Given the description of an element on the screen output the (x, y) to click on. 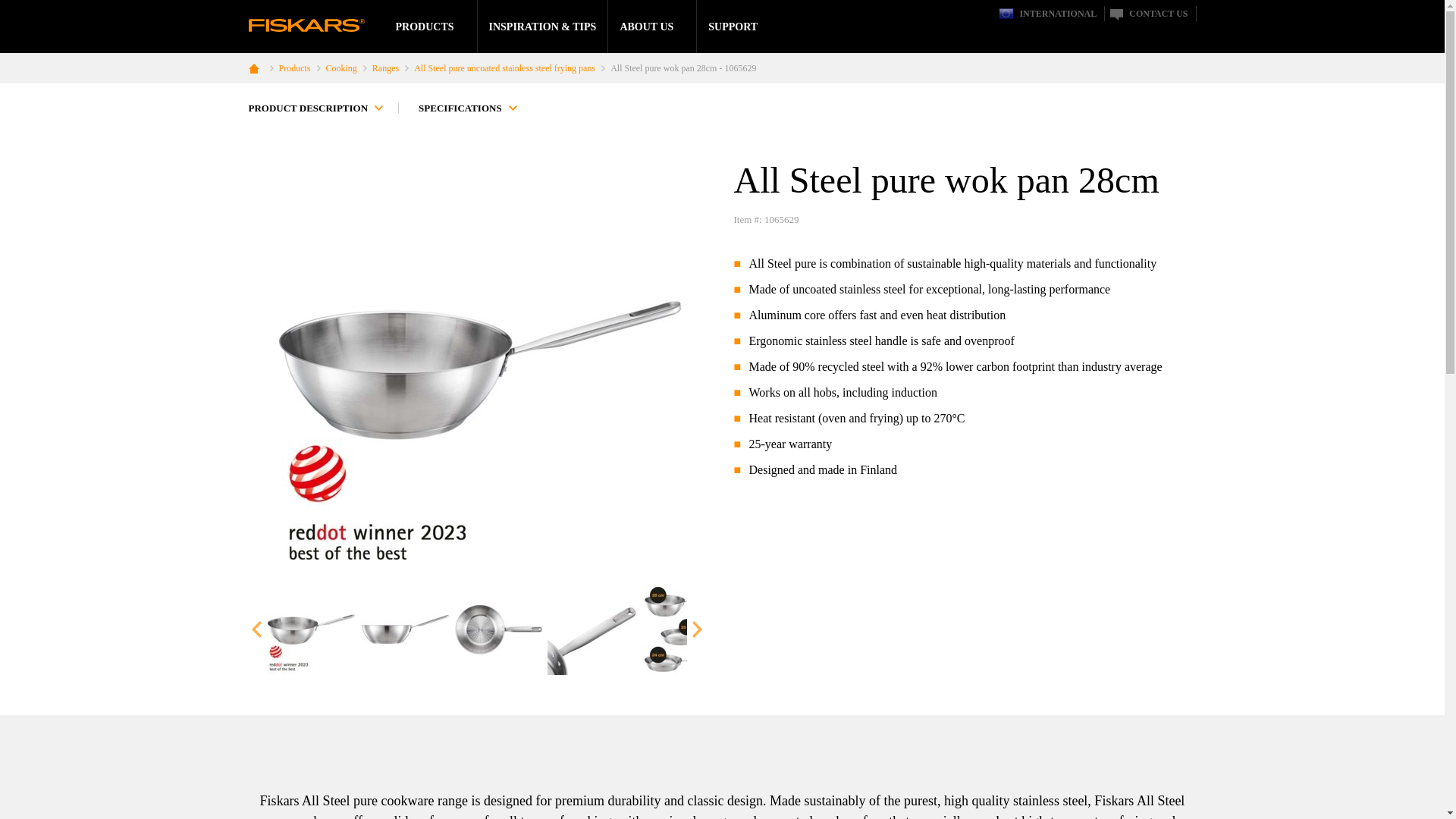
PRODUCTS (425, 25)
Choose country (1047, 13)
Contact us (1148, 13)
